Given the description of an element on the screen output the (x, y) to click on. 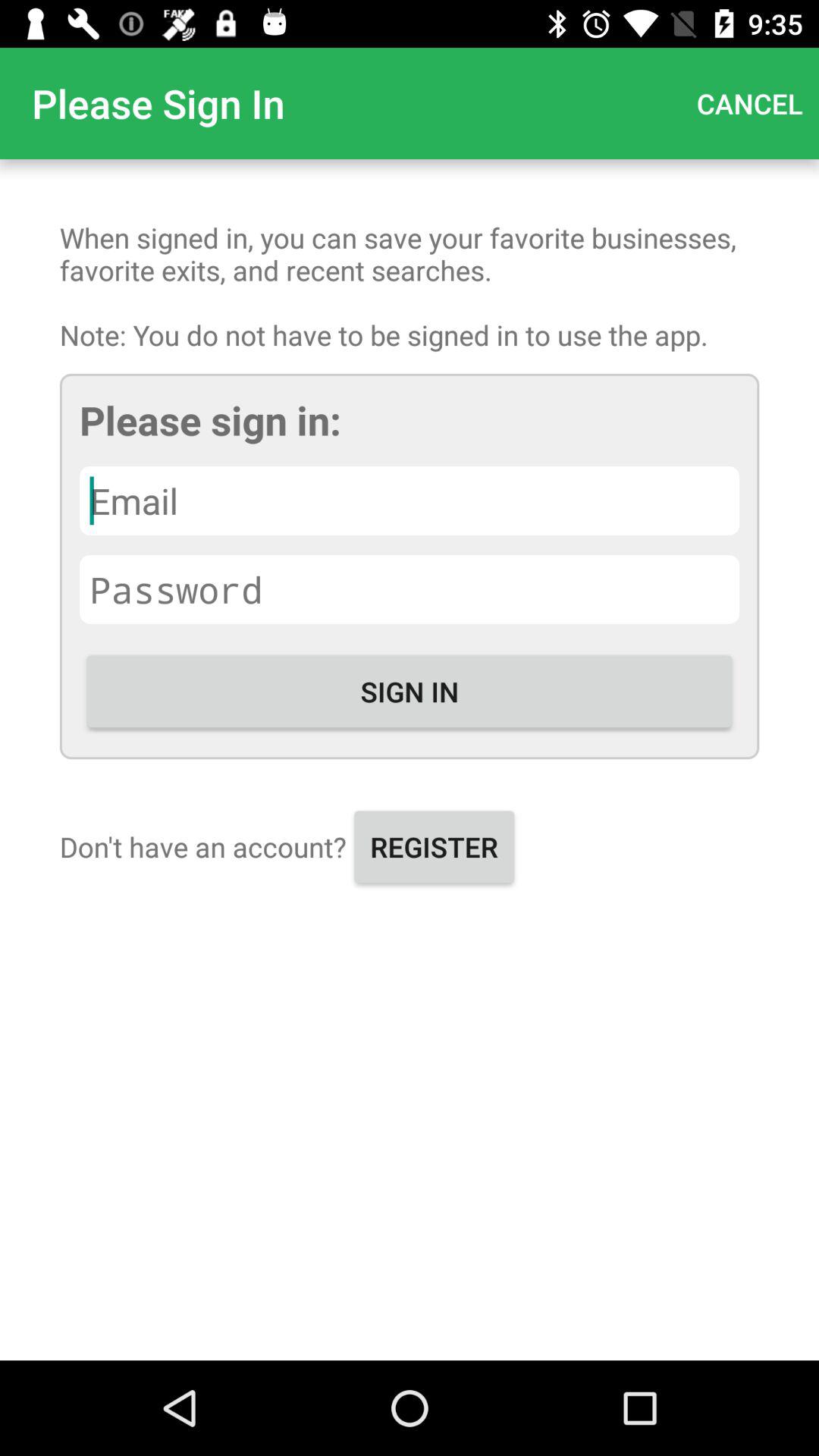
turn off the item above the when signed in item (749, 103)
